Given the description of an element on the screen output the (x, y) to click on. 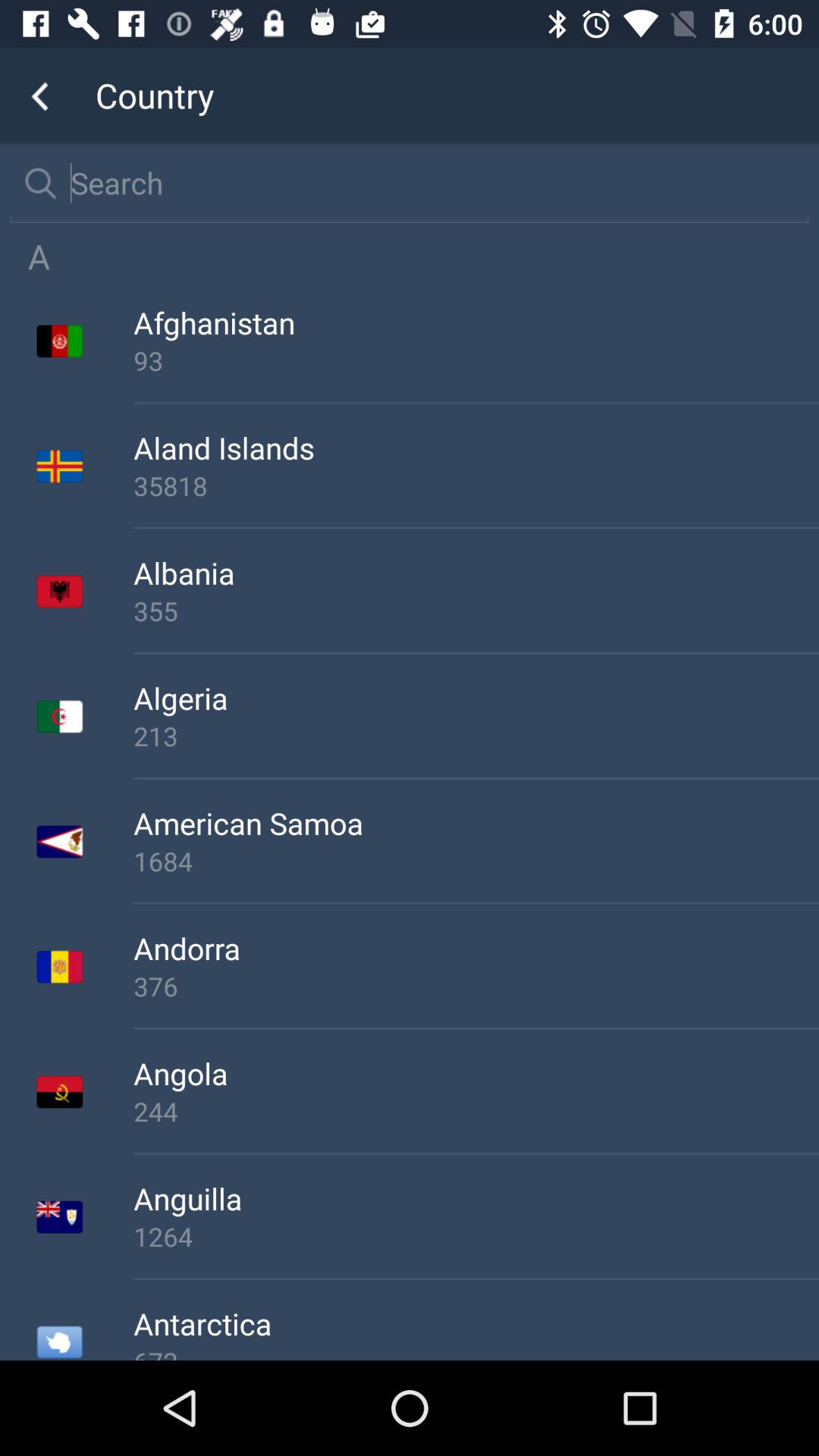
tap the icon above the 244 app (476, 1073)
